Given the description of an element on the screen output the (x, y) to click on. 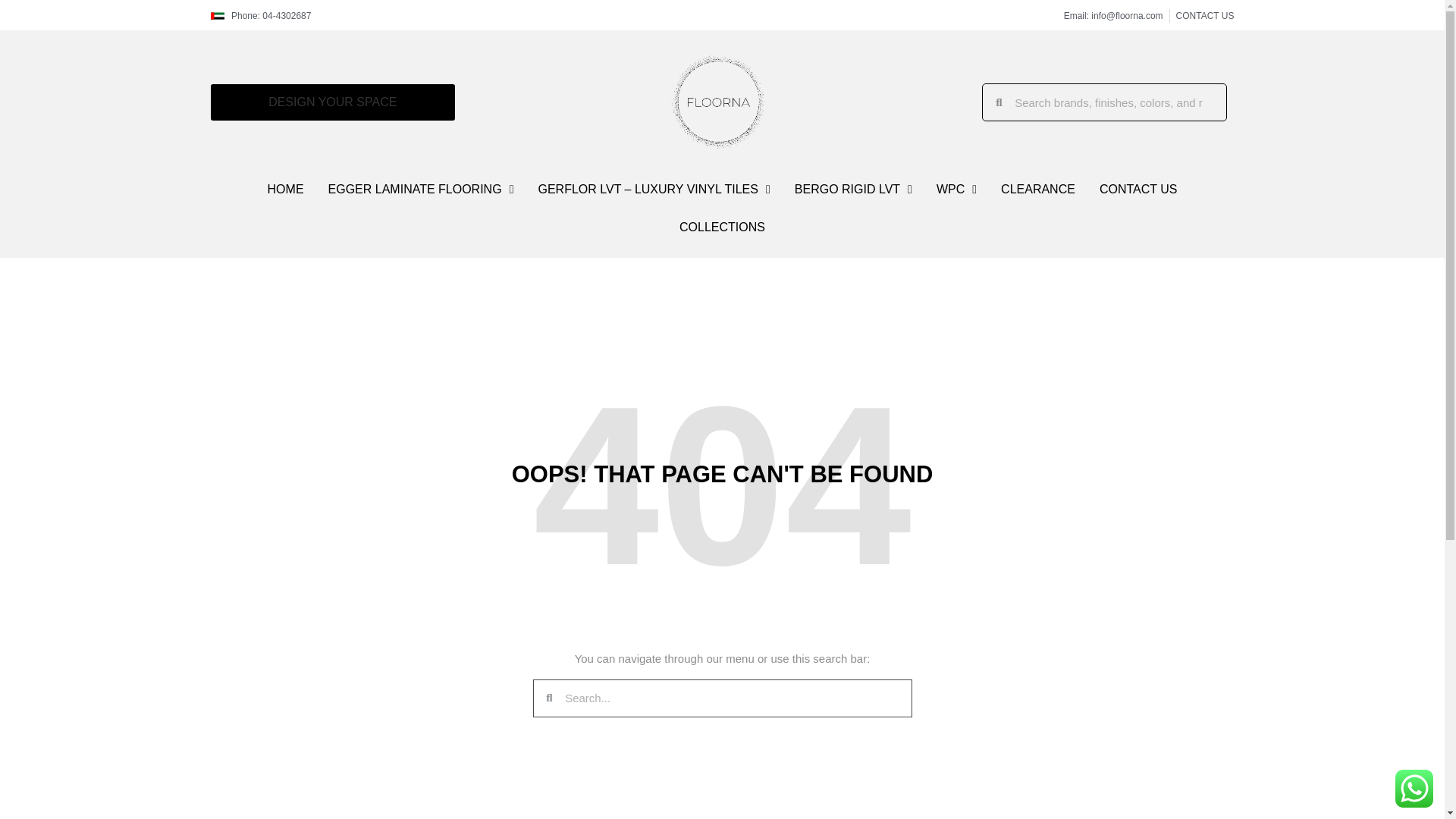
WPC (956, 189)
BERGO RIGID LVT (853, 189)
EGGER LAMINATE FLOORING (420, 189)
DESIGN YOUR SPACE (333, 102)
Phone: 04-4302687 (261, 15)
HOME (285, 189)
COLLECTIONS (721, 227)
CLEARANCE (1037, 189)
CONTACT US (1138, 189)
CONTACT US (1205, 15)
